Given the description of an element on the screen output the (x, y) to click on. 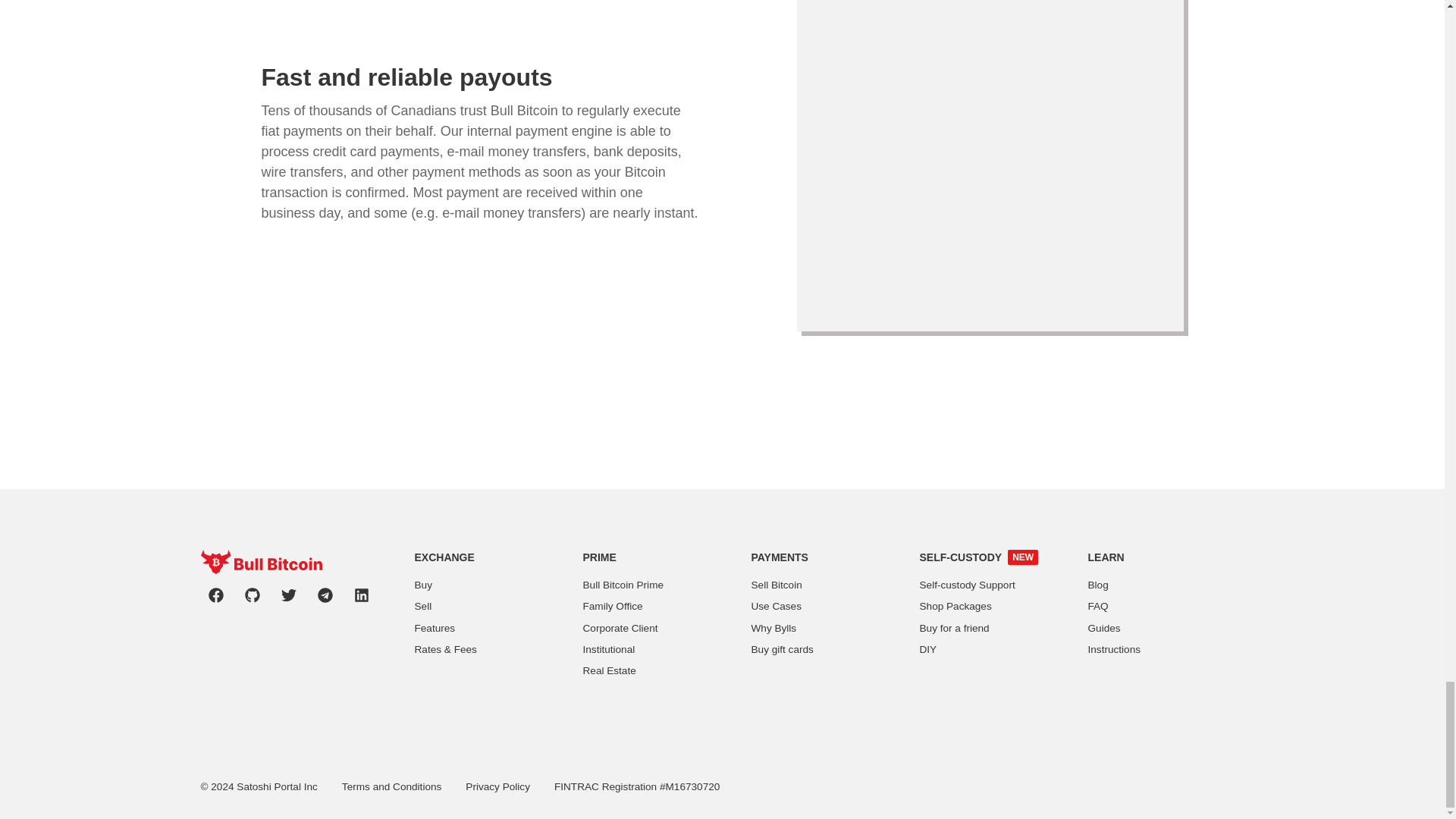
Github (250, 594)
Twitter (287, 594)
Buy (421, 585)
Telegram (323, 594)
LinkedIn (360, 594)
Facebook (215, 594)
